Given the description of an element on the screen output the (x, y) to click on. 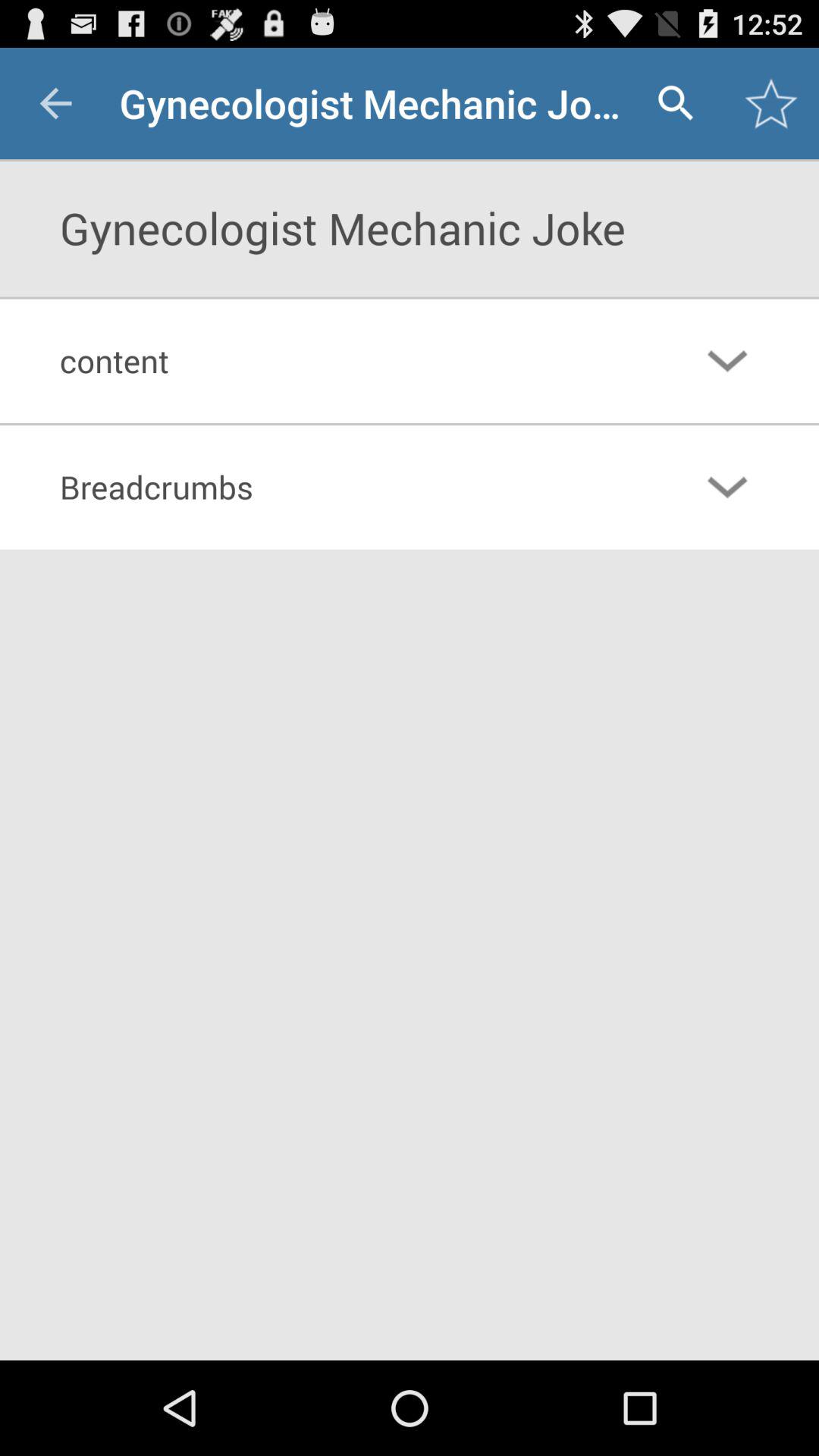
launch the item next to gynecologist mechanic joke item (55, 103)
